Given the description of an element on the screen output the (x, y) to click on. 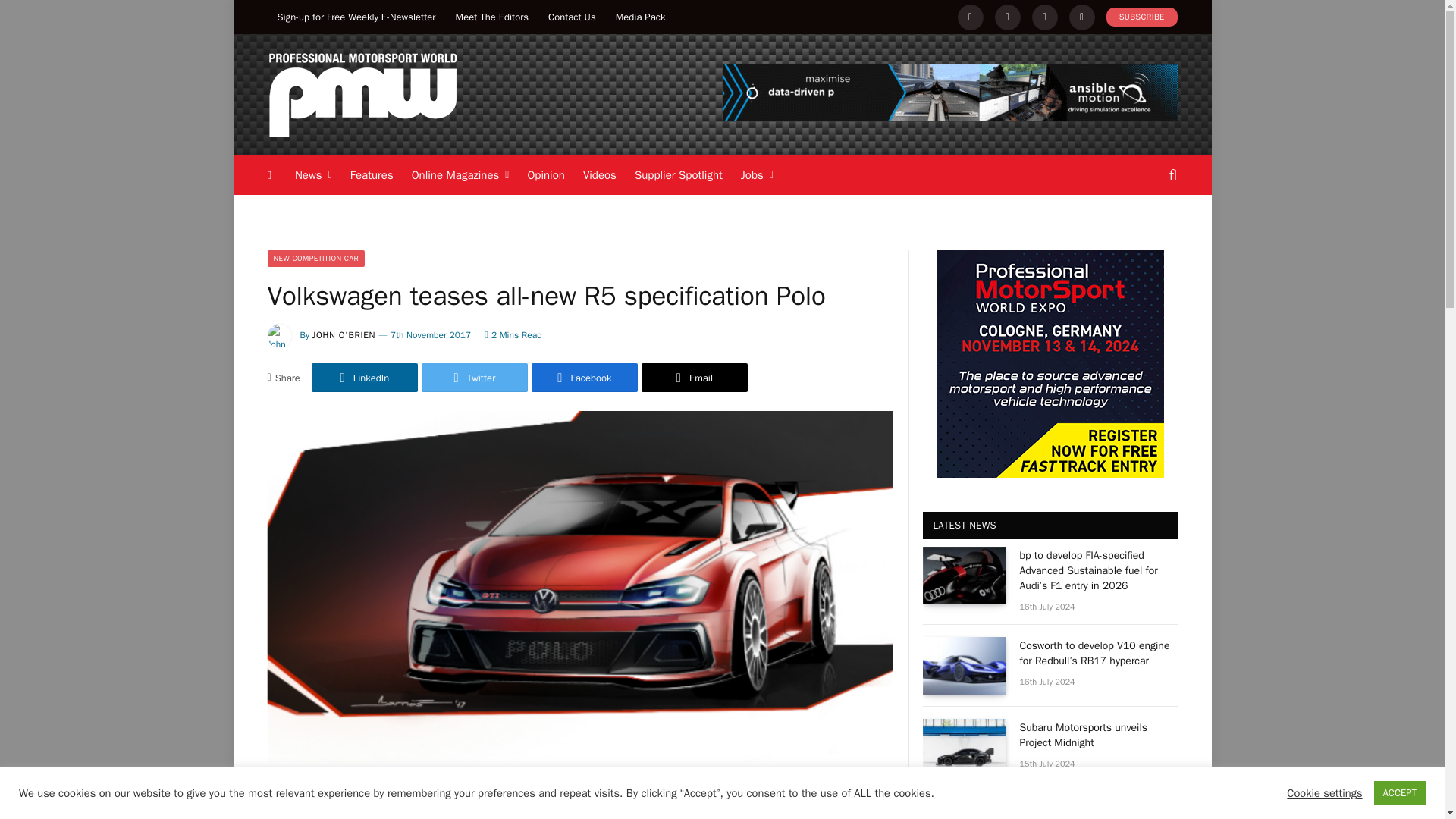
Share via Email (695, 377)
Share on LinkedIn (364, 377)
Share on Facebook (584, 377)
Posts by John O'Brien (344, 335)
Professional Motorsport World (361, 94)
Share on Twitter (474, 377)
